Given the description of an element on the screen output the (x, y) to click on. 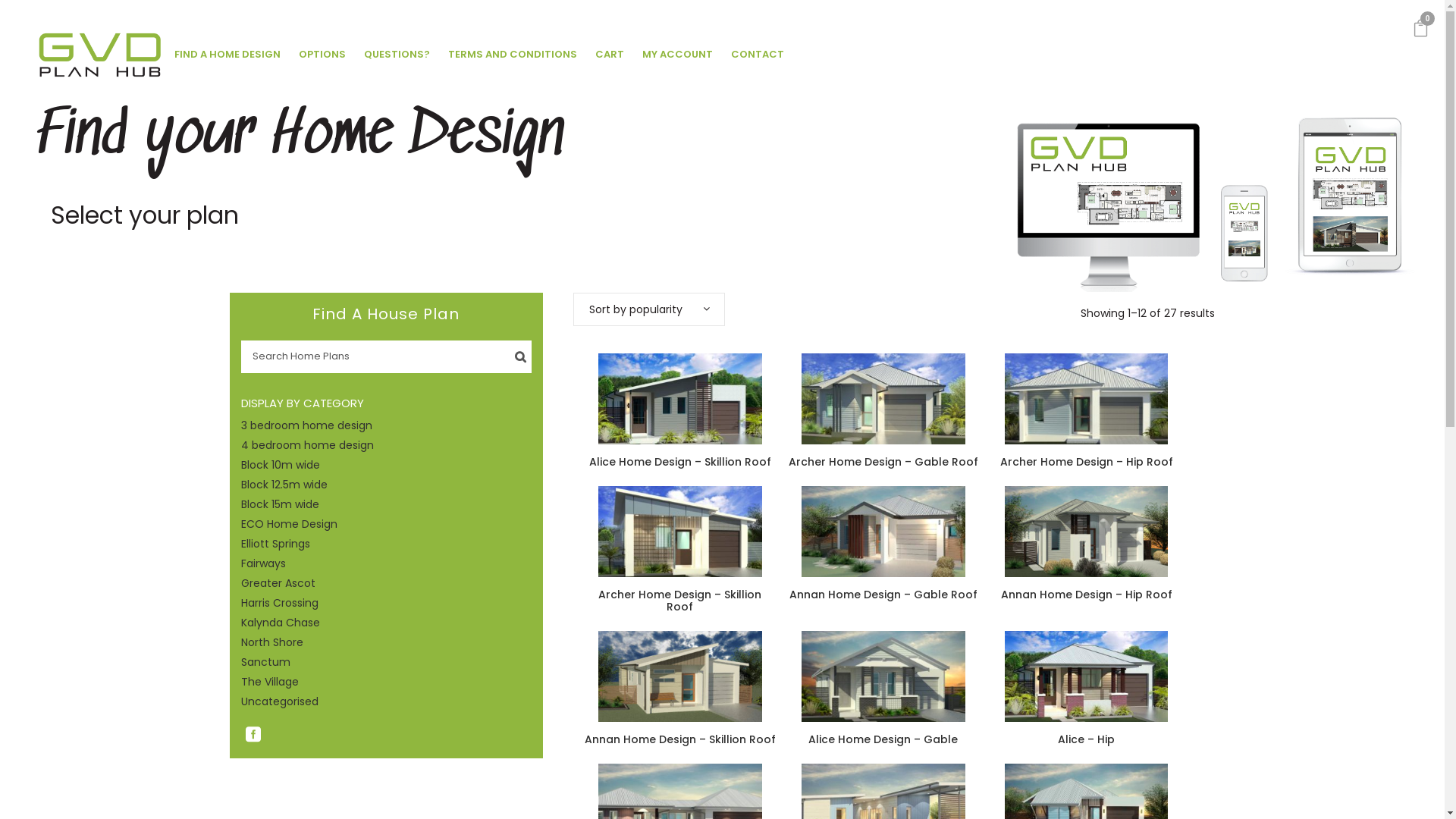
4 bedroom home design Element type: text (307, 444)
CART Element type: text (609, 54)
Greater Ascot Element type: text (278, 582)
0 Element type: text (1420, 29)
The Village Element type: text (269, 681)
Elliott Springs Element type: text (275, 543)
MY ACCOUNT Element type: text (677, 54)
OPTIONS Element type: text (321, 54)
QUESTIONS? Element type: text (396, 54)
Block 15m wide Element type: text (280, 503)
Sanctum Element type: text (265, 661)
ECO Home Design Element type: text (289, 523)
TERMS AND CONDITIONS Element type: text (512, 54)
Harris Crossing Element type: text (279, 602)
North Shore Element type: text (272, 641)
Kalynda Chase Element type: text (280, 622)
Block 12.5m wide Element type: text (284, 484)
Block 10m wide Element type: text (280, 464)
3 bedroom home design Element type: text (306, 425)
FIND A HOME DESIGN Element type: text (227, 54)
Uncategorised Element type: text (279, 701)
Fairways Element type: text (263, 563)
CONTACT Element type: text (757, 54)
